Given the description of an element on the screen output the (x, y) to click on. 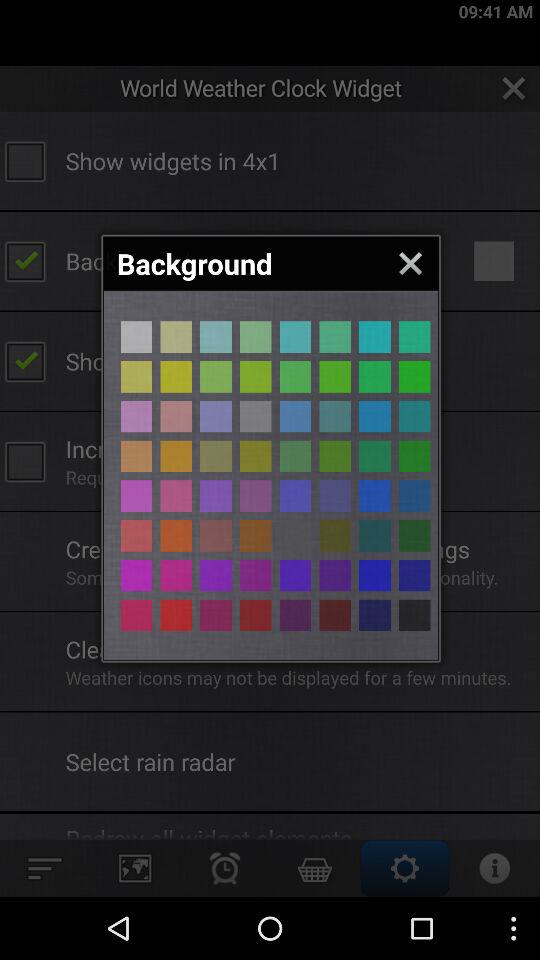
box (414, 495)
